Given the description of an element on the screen output the (x, y) to click on. 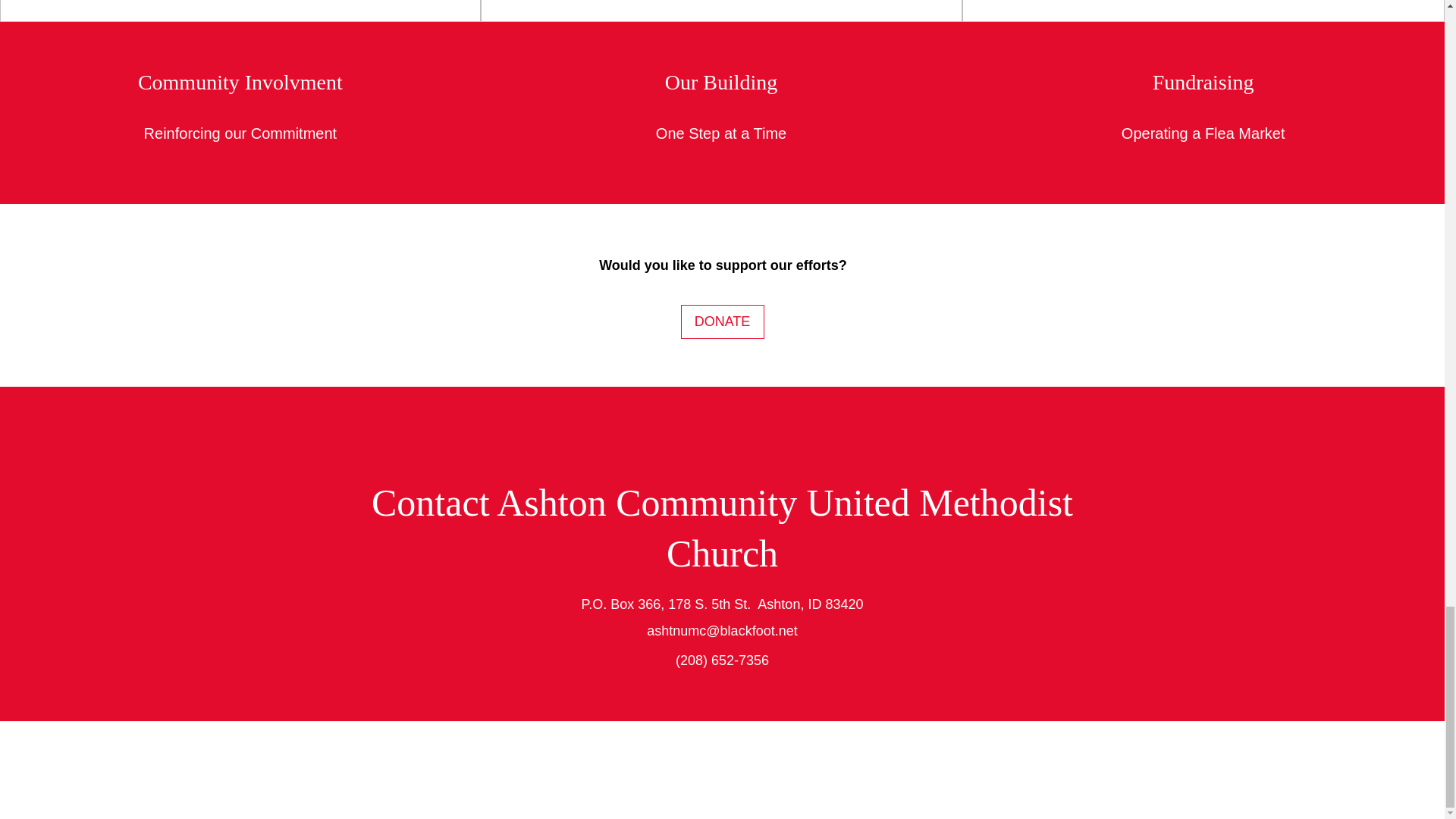
DONATE (722, 321)
